Given the description of an element on the screen output the (x, y) to click on. 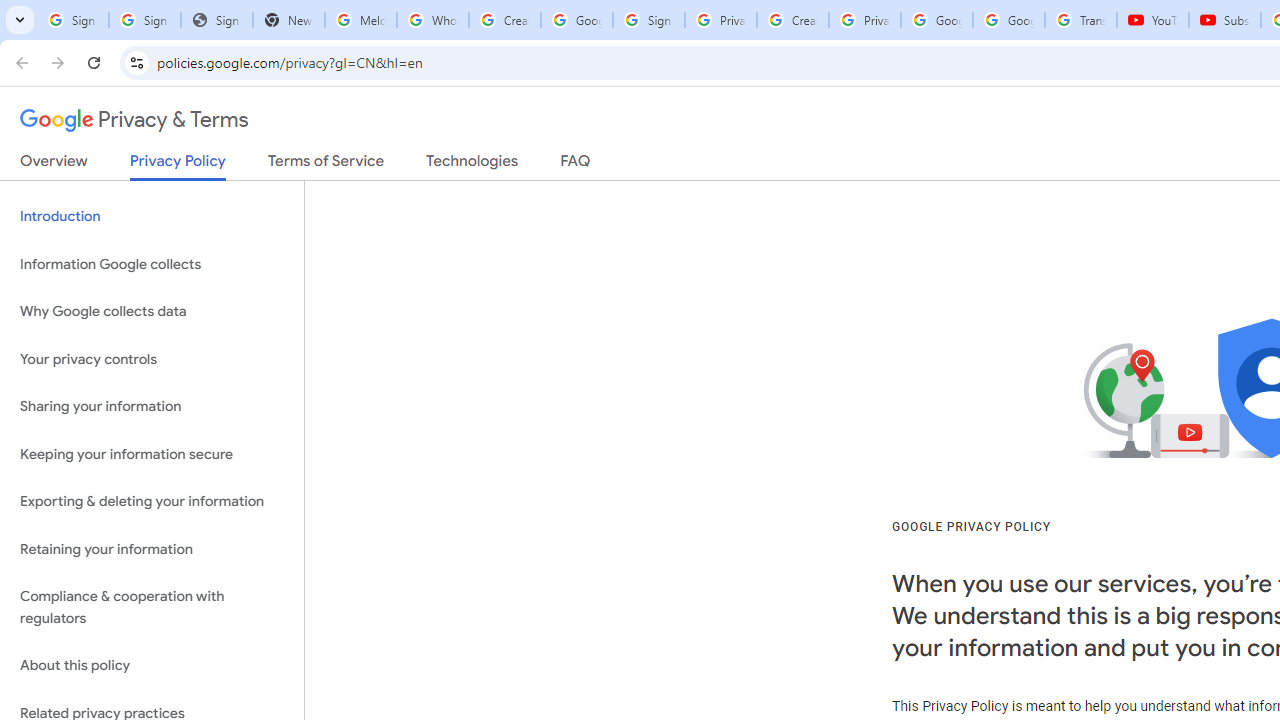
YouTube (1153, 20)
